Given the description of an element on the screen output the (x, y) to click on. 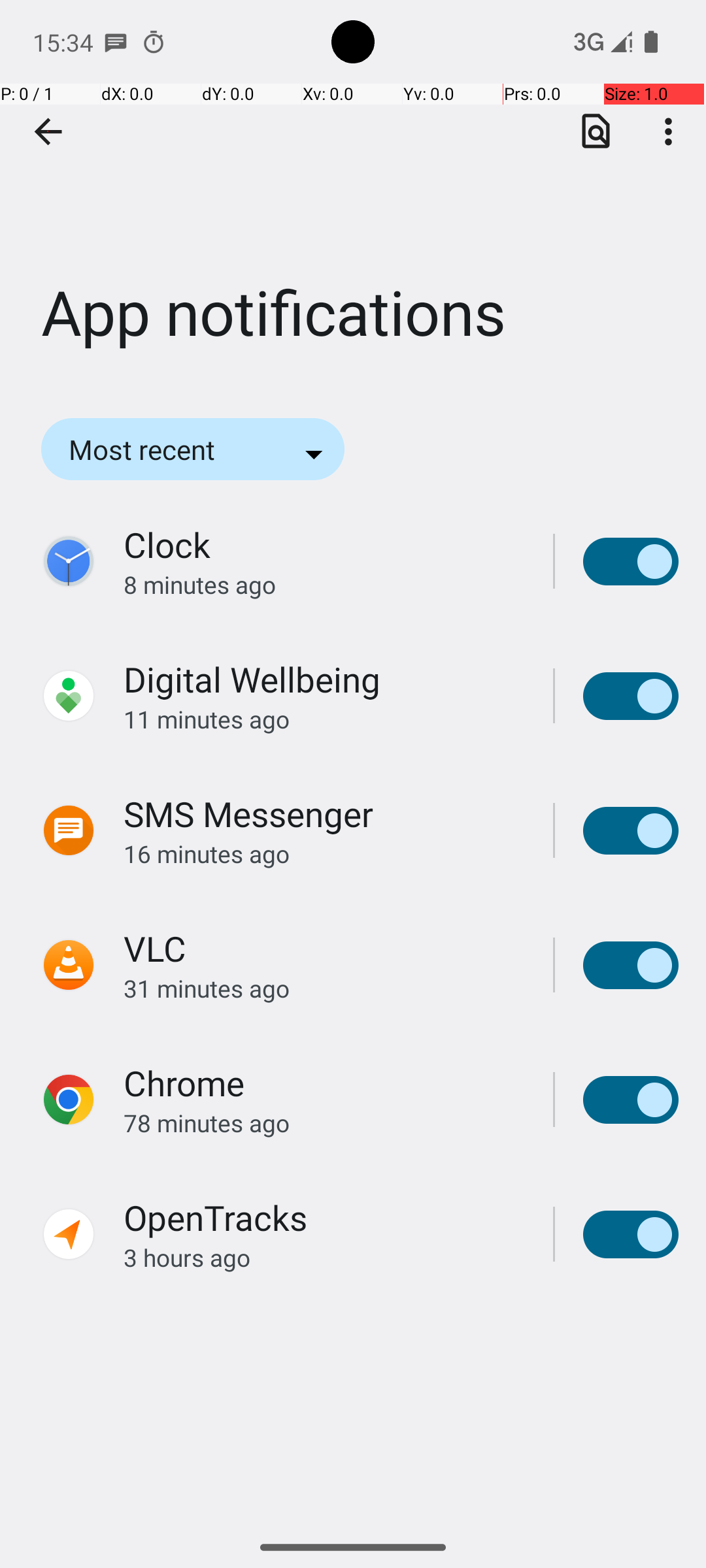
8 minutes ago Element type: android.widget.TextView (324, 584)
11 minutes ago Element type: android.widget.TextView (324, 718)
16 minutes ago Element type: android.widget.TextView (324, 853)
31 minutes ago Element type: android.widget.TextView (324, 987)
78 minutes ago Element type: android.widget.TextView (324, 1122)
3 hours ago Element type: android.widget.TextView (324, 1257)
